Given the description of an element on the screen output the (x, y) to click on. 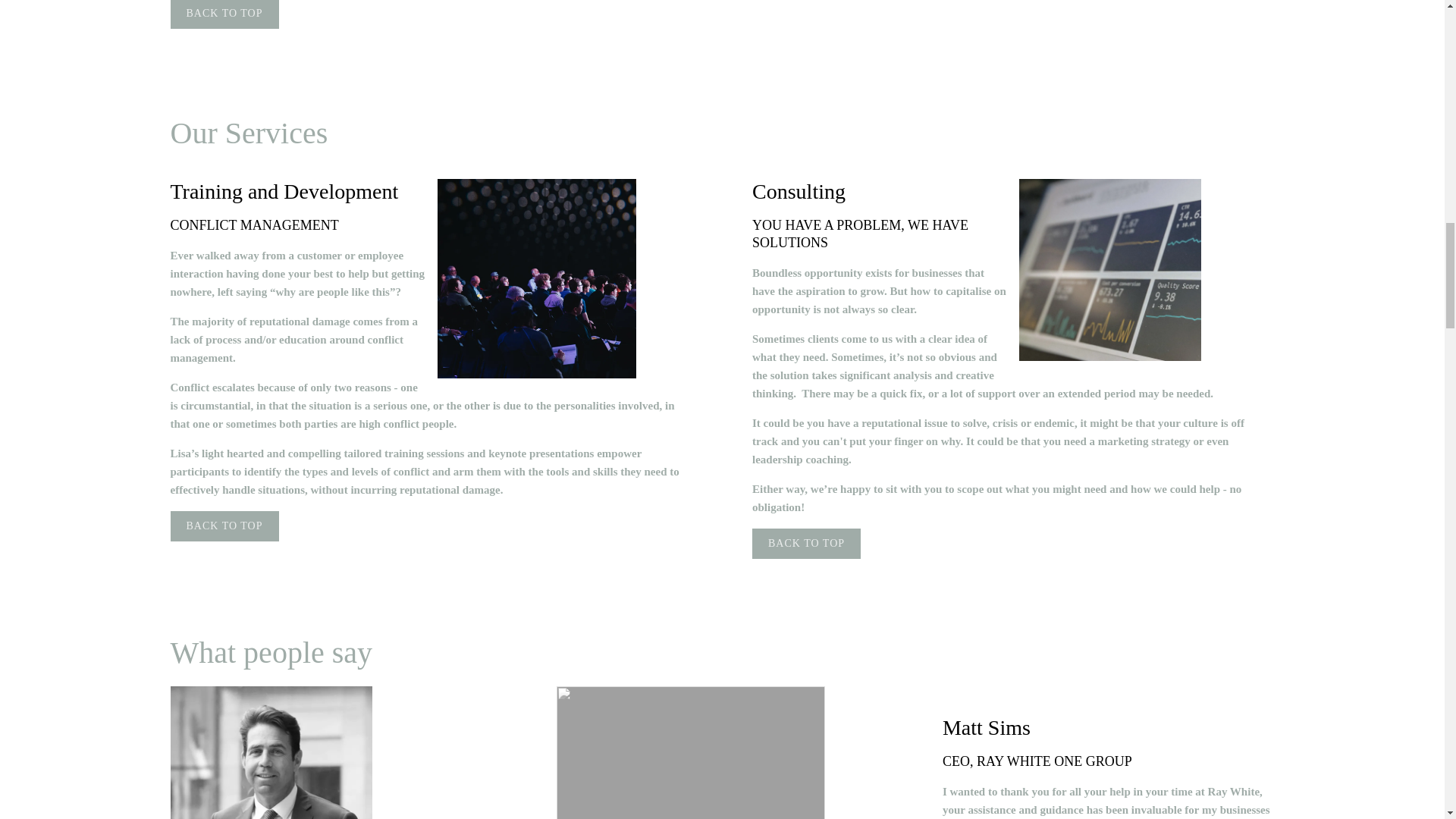
BACK TO TOP (806, 543)
BACK TO TOP (224, 526)
BACK TO TOP (224, 14)
